Given the description of an element on the screen output the (x, y) to click on. 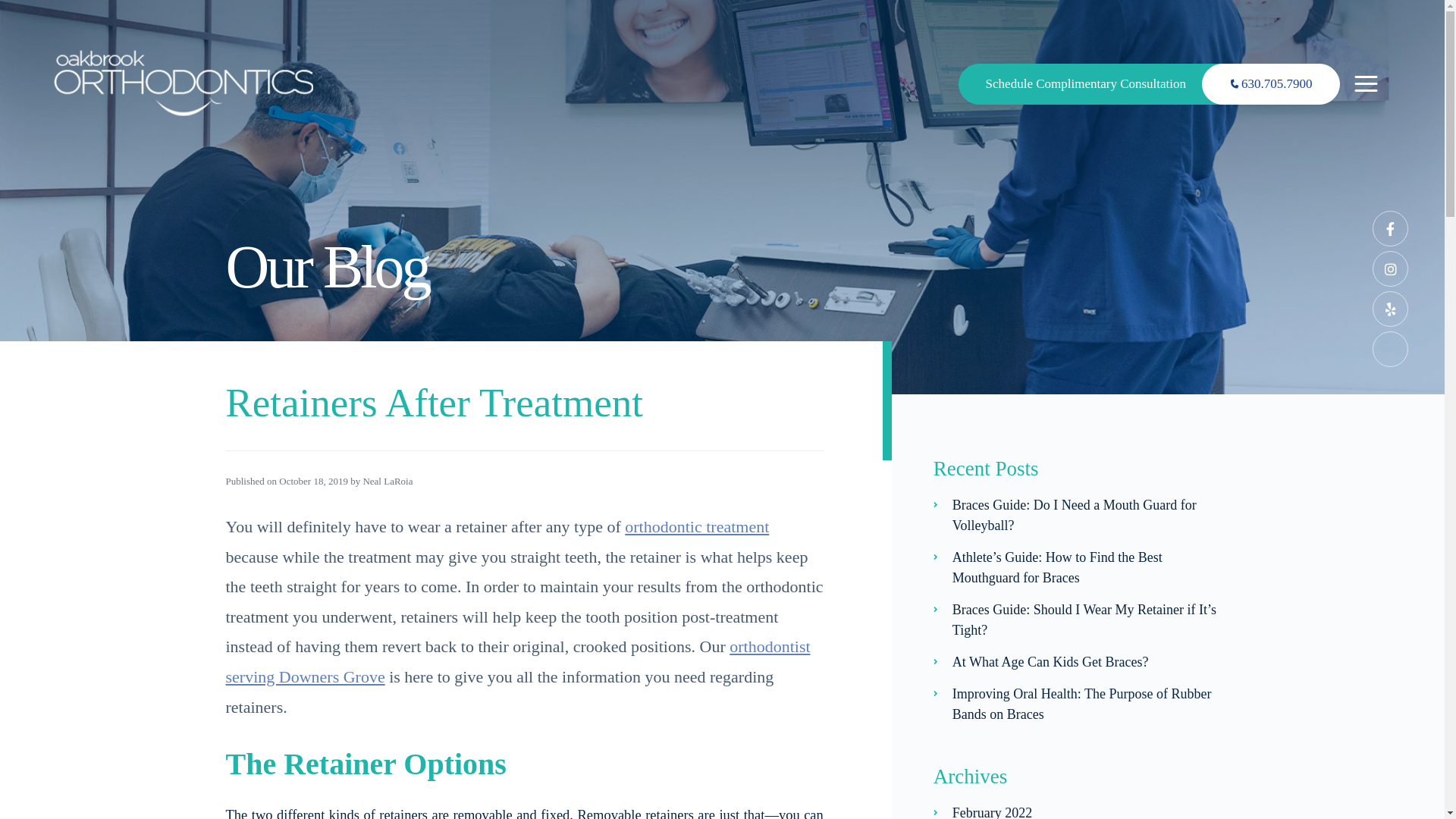
Schedule Complimentary Consultation (1099, 83)
Oakbrook Terrace Orthodontics (183, 82)
630.705.7900 (1270, 83)
